Given the description of an element on the screen output the (x, y) to click on. 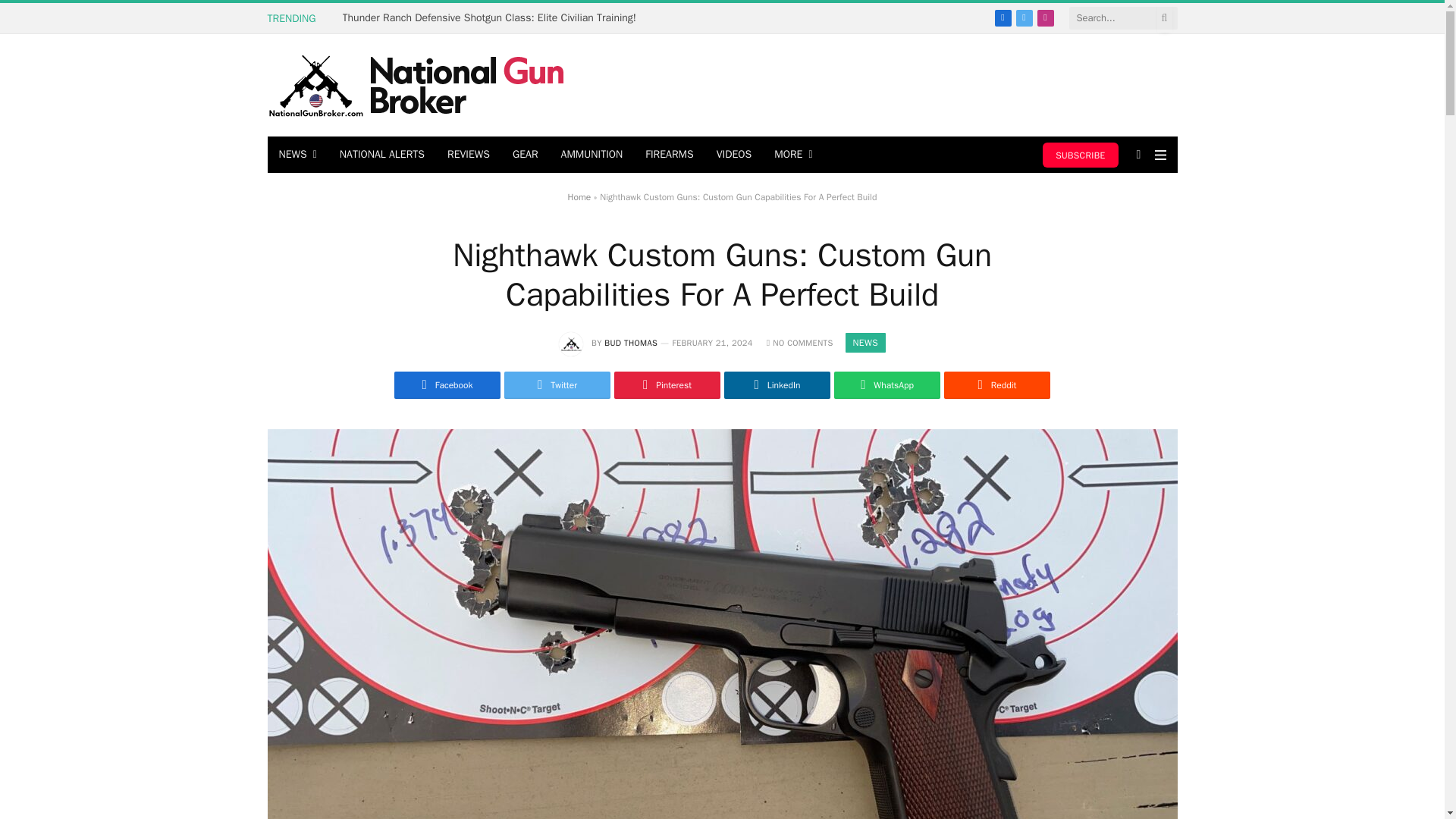
National Gun Broker (415, 85)
Instagram (1045, 17)
NEWS (296, 154)
Facebook (1002, 17)
